Given the description of an element on the screen output the (x, y) to click on. 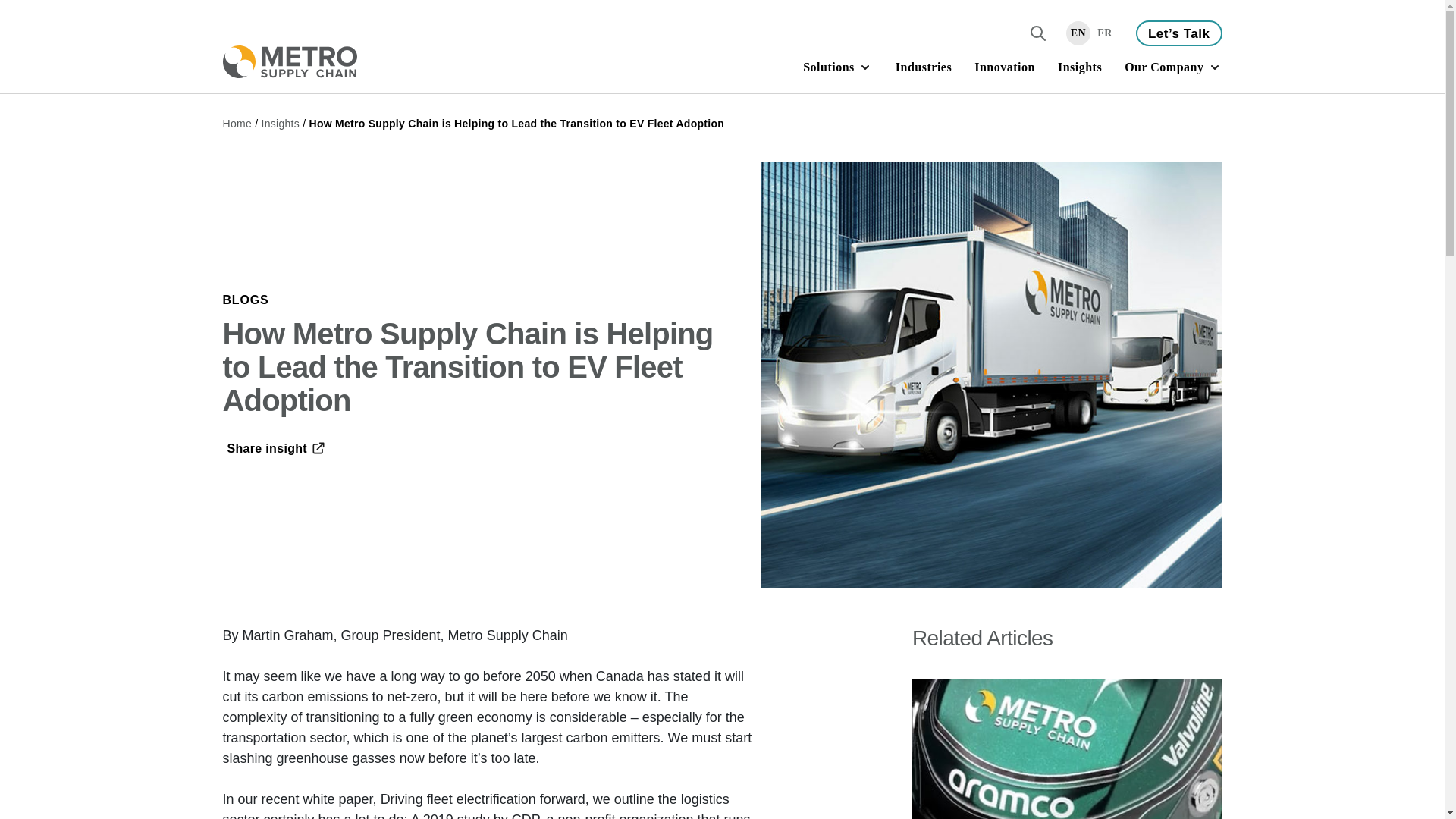
Insights (1080, 68)
Solutions (837, 68)
Metro Supply Chain Group Logo (290, 61)
FR (1104, 33)
Industries (923, 68)
Innovation (1004, 68)
EN (1077, 33)
Our Company (1172, 68)
FR (1104, 33)
EN (1077, 33)
